Given the description of an element on the screen output the (x, y) to click on. 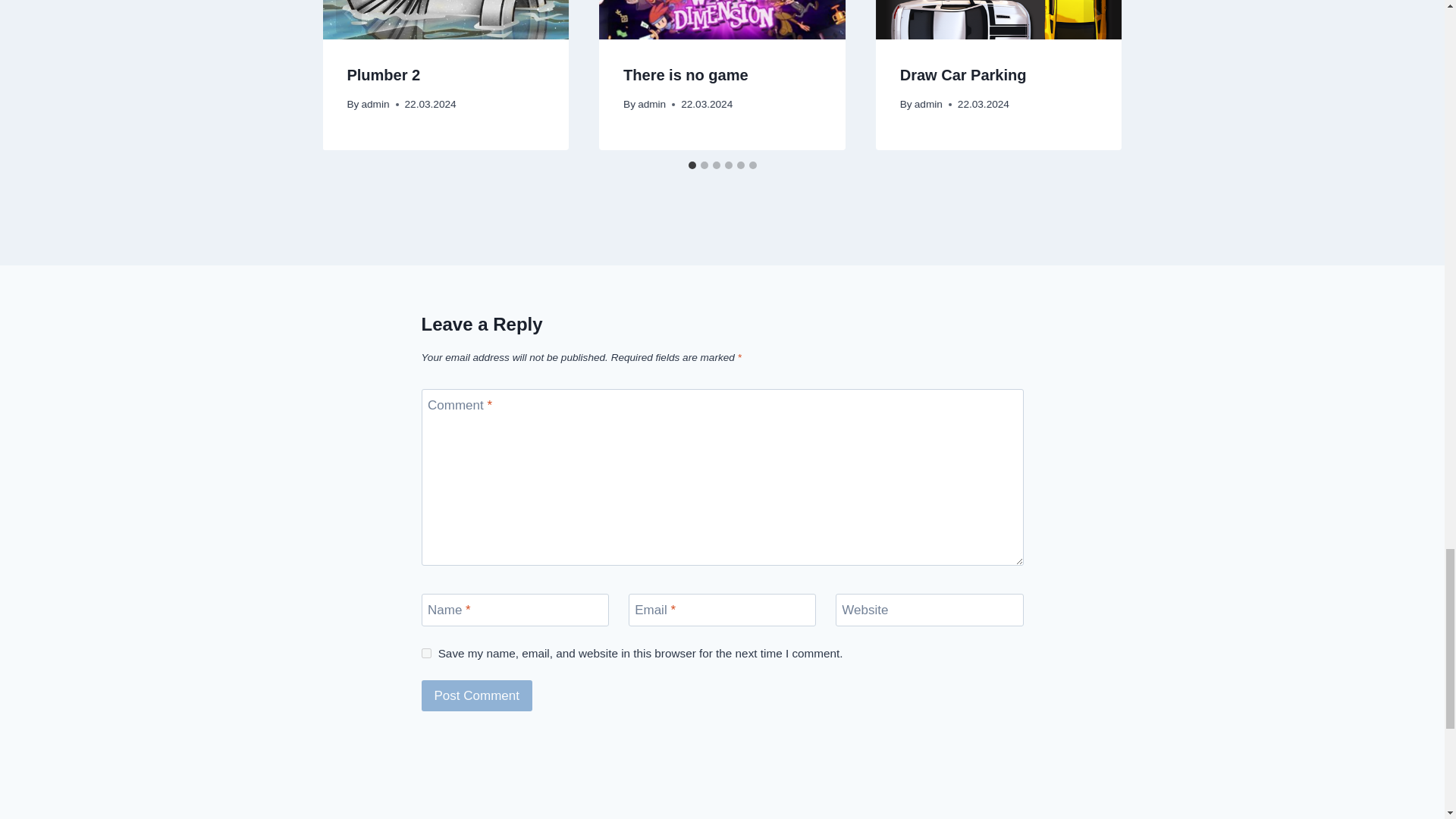
yes (426, 653)
Advertisement (722, 764)
Post Comment (477, 695)
